Given the description of an element on the screen output the (x, y) to click on. 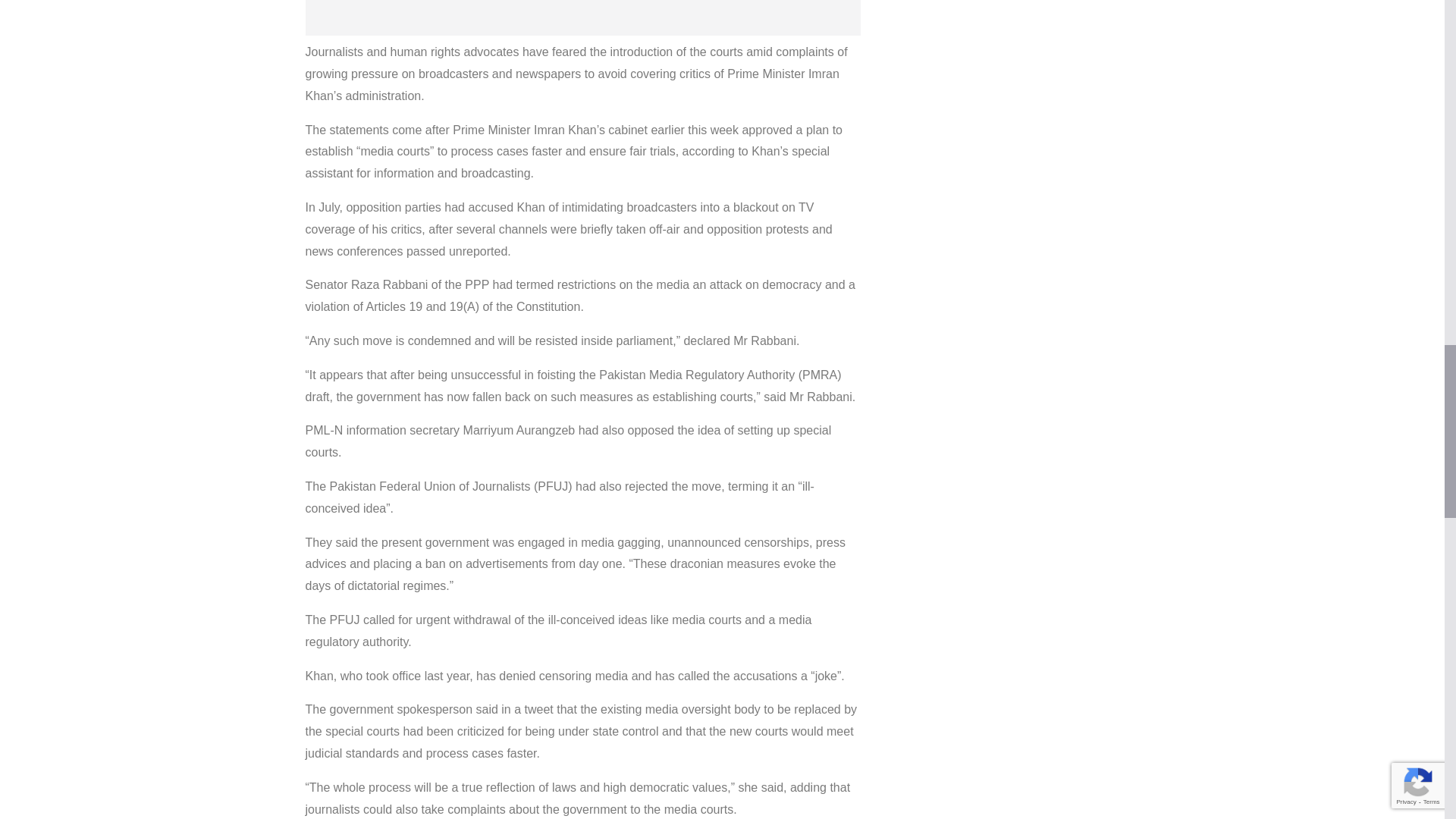
Advertisement (582, 18)
